Given the description of an element on the screen output the (x, y) to click on. 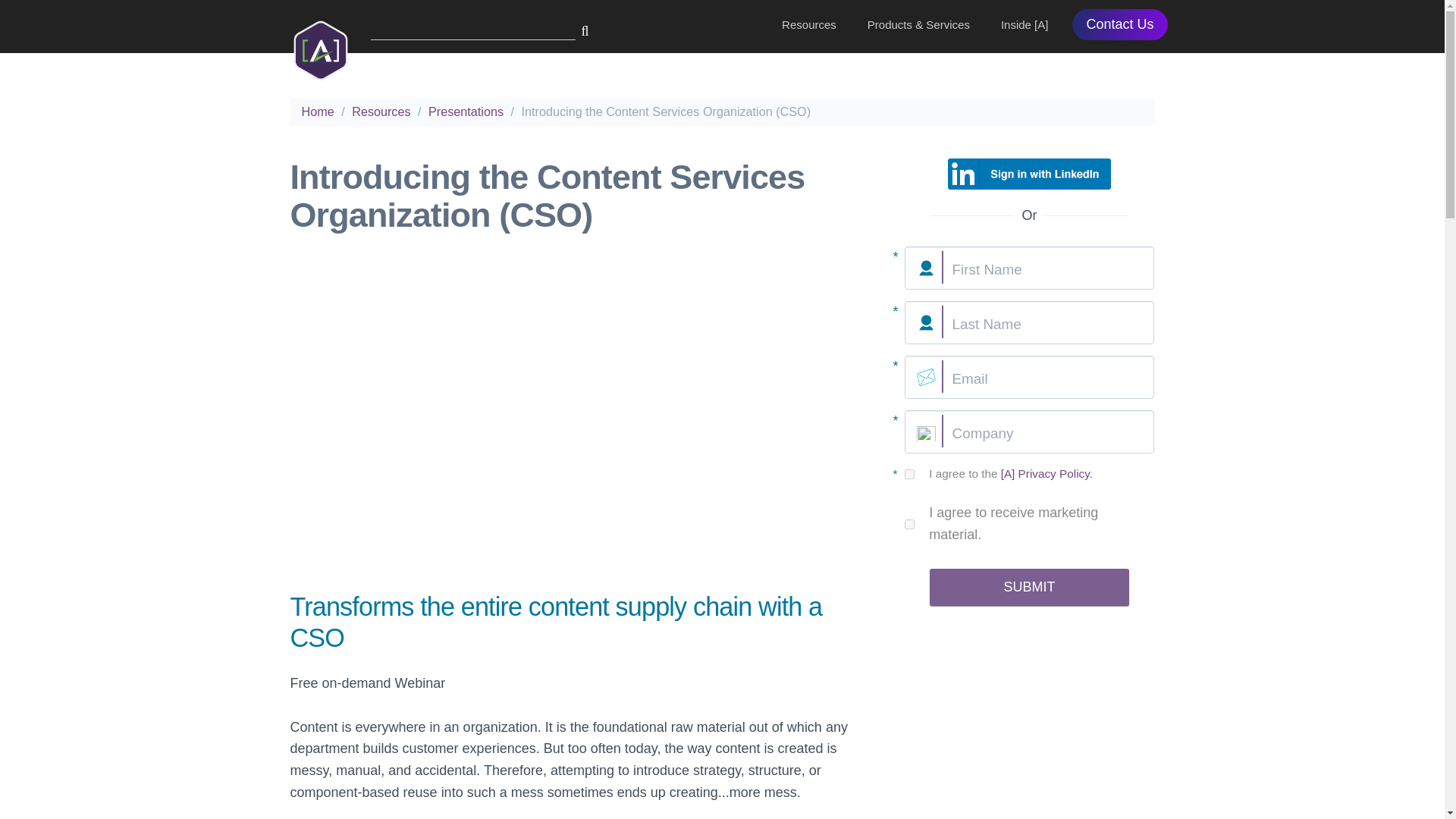
Resources (380, 110)
Search (32, 17)
on (909, 524)
Resources (808, 24)
on (909, 474)
Home (317, 110)
Contact Us (1119, 24)
Presentations (465, 110)
Submit (1029, 587)
